Given the description of an element on the screen output the (x, y) to click on. 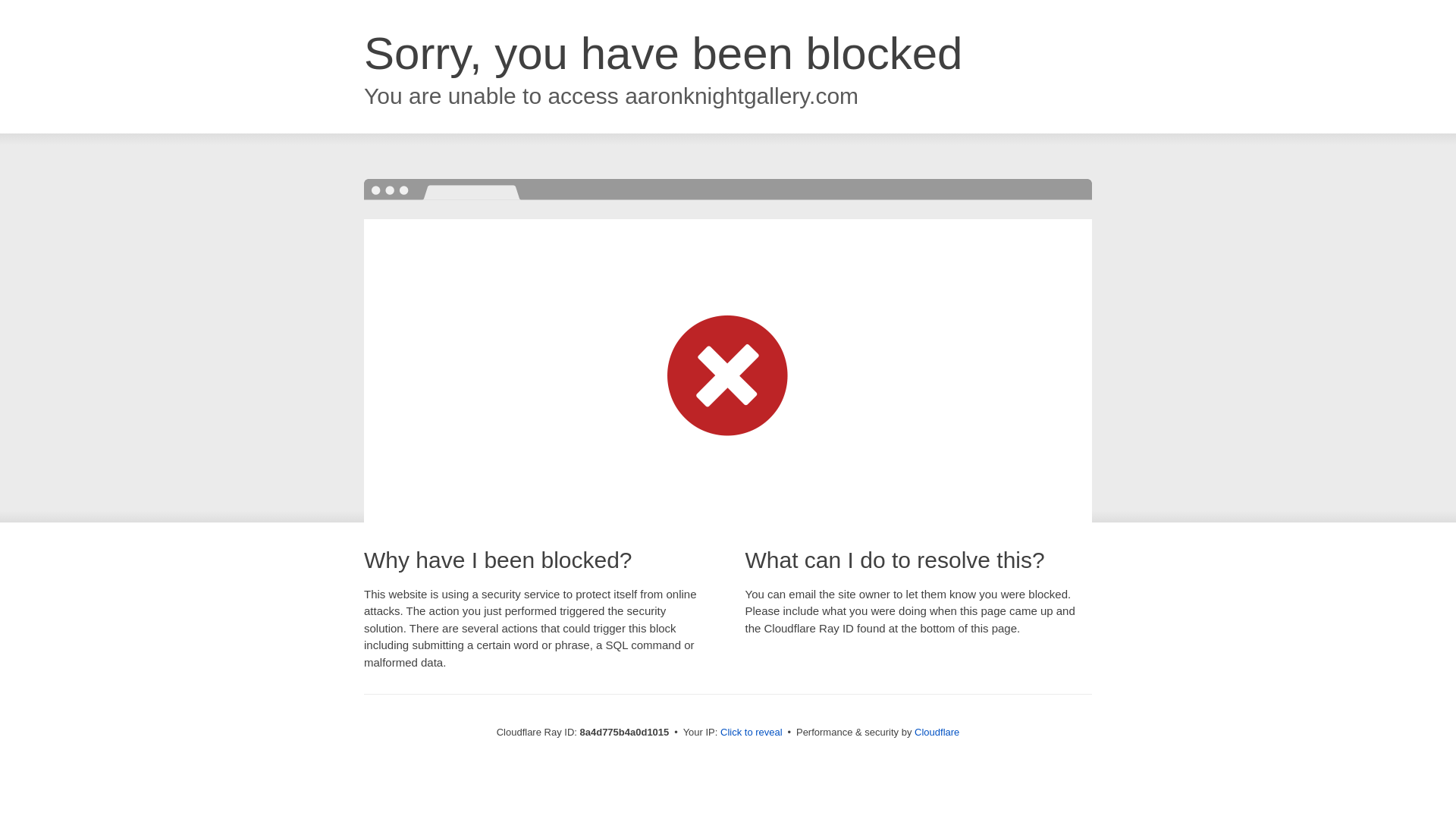
Click to reveal (751, 732)
Cloudflare (936, 731)
